Given the description of an element on the screen output the (x, y) to click on. 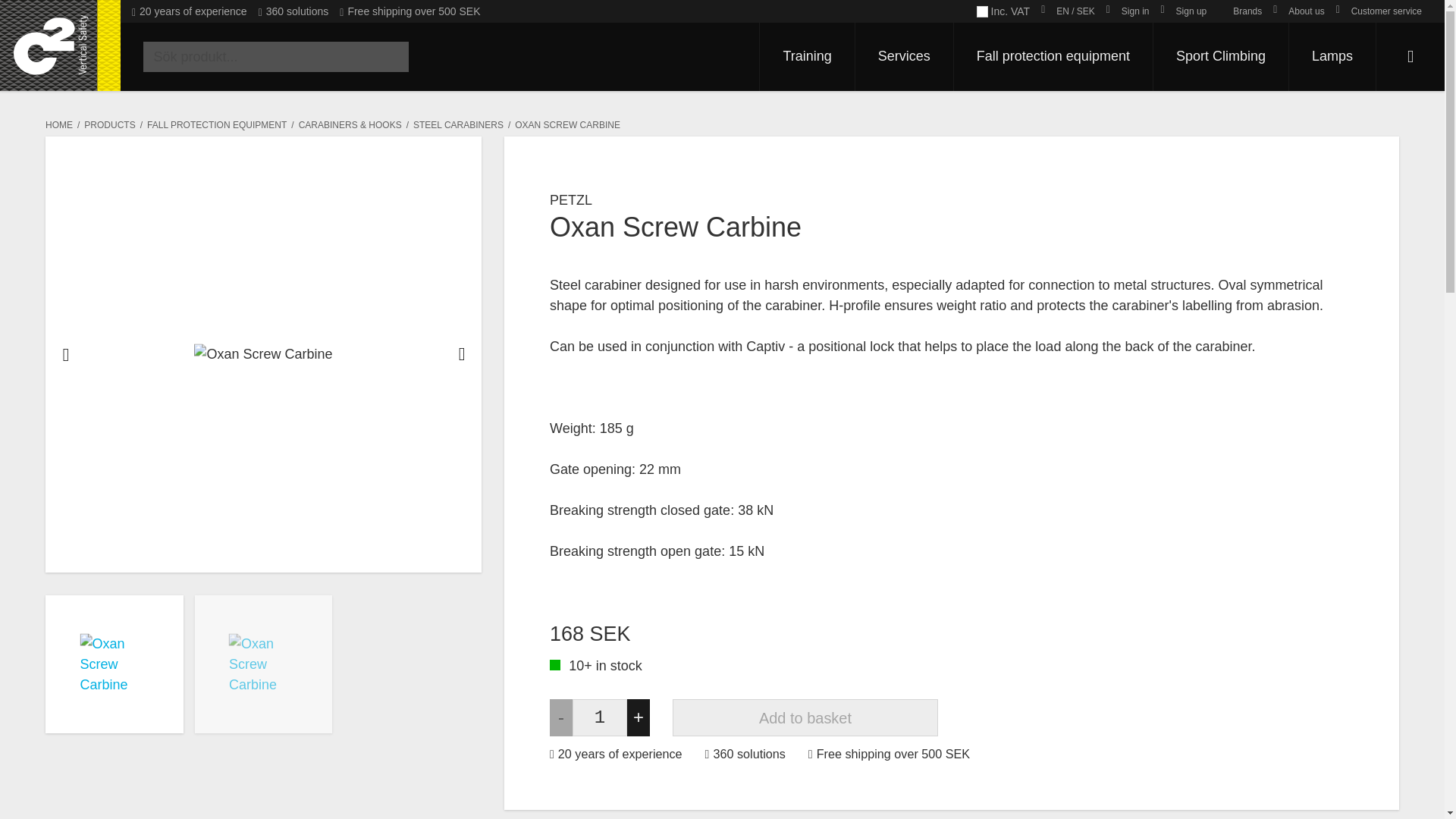
Services (904, 56)
Sign up (1183, 11)
1 (599, 717)
Fall protection equipment (1053, 56)
Training (806, 56)
Brands (1239, 11)
Customer service (1379, 11)
About us (1297, 11)
Sign in (1128, 11)
